Given the description of an element on the screen output the (x, y) to click on. 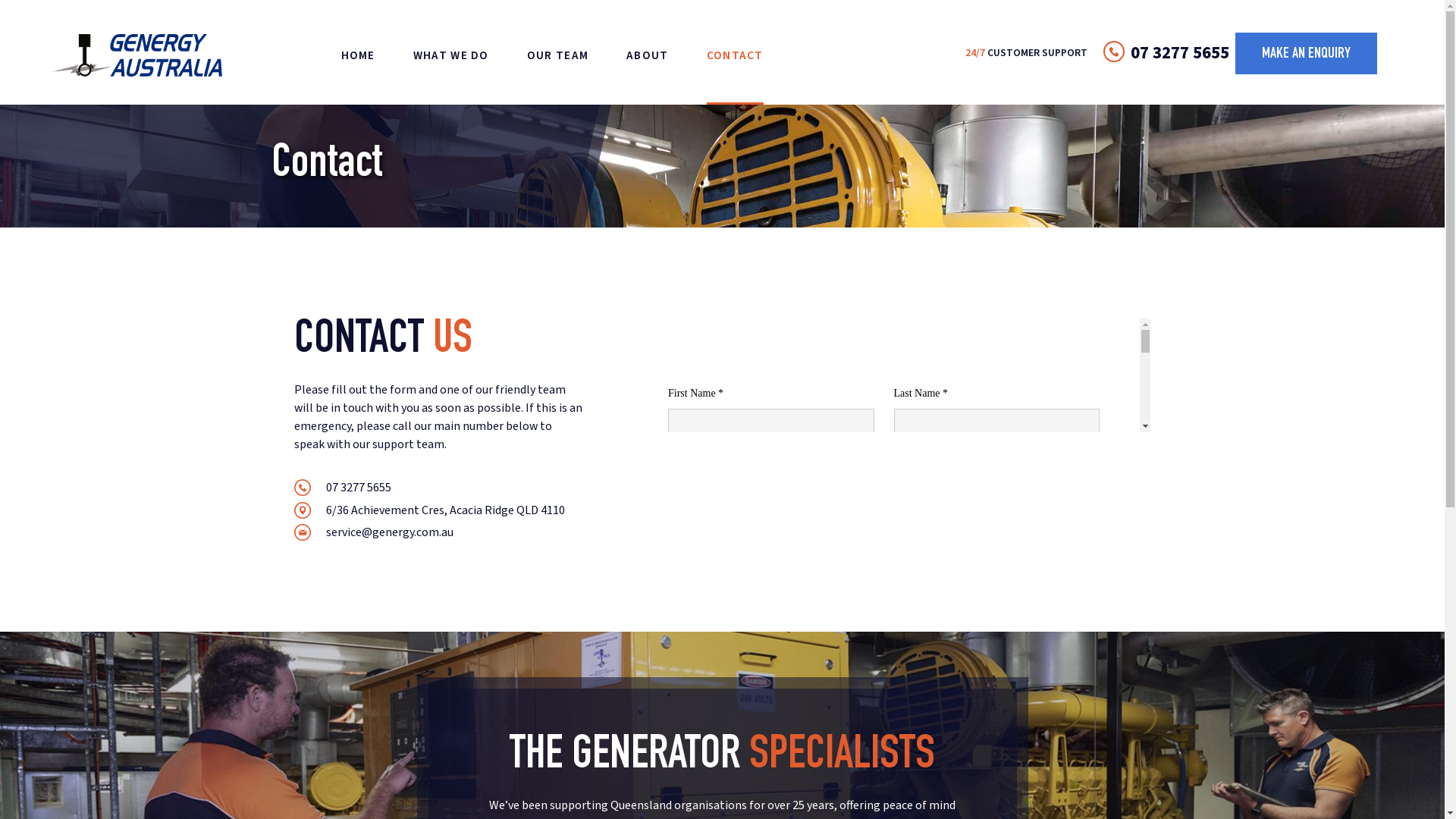
HOME Element type: text (358, 55)
ABOUT Element type: text (647, 55)
07 3277 5655 Element type: text (1179, 52)
07 3277 5655 Element type: text (438, 487)
WHAT WE DO Element type: text (451, 55)
MAKE AN ENQUIRY Element type: text (1306, 53)
OUR TEAM Element type: text (557, 55)
service@genergy.com.au Element type: text (438, 532)
6/36 Achievement Cres, Acacia Ridge QLD 4110 Element type: text (438, 510)
CONTACT Element type: text (734, 55)
